Given the description of an element on the screen output the (x, y) to click on. 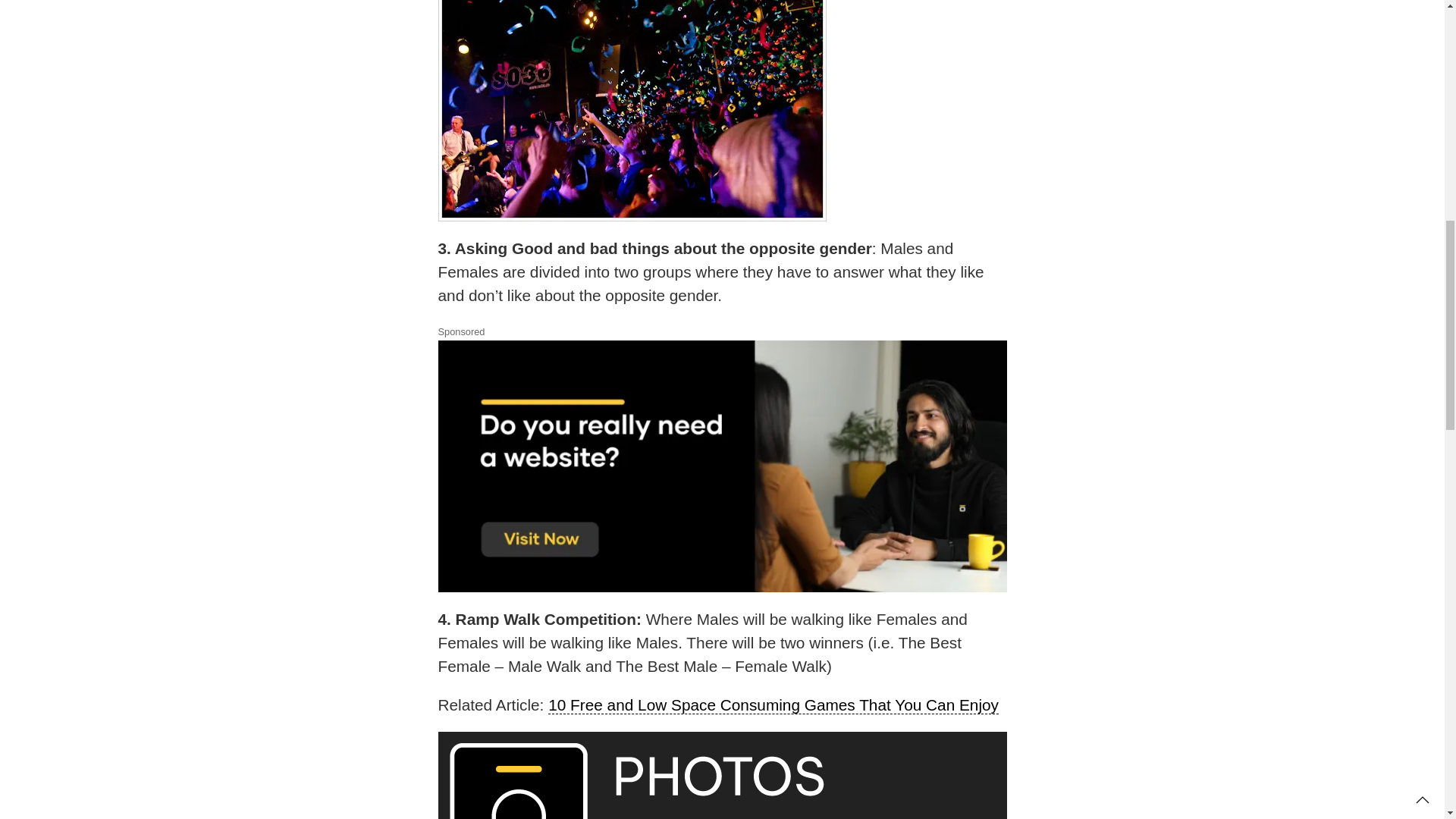
4 Interesting Games for the Fresher Party 1 (632, 110)
4 Interesting Games for the Fresher Party 3 (642, 780)
10 Free and Low Space Consuming Games That You Can Enjoy (773, 705)
